Given the description of an element on the screen output the (x, y) to click on. 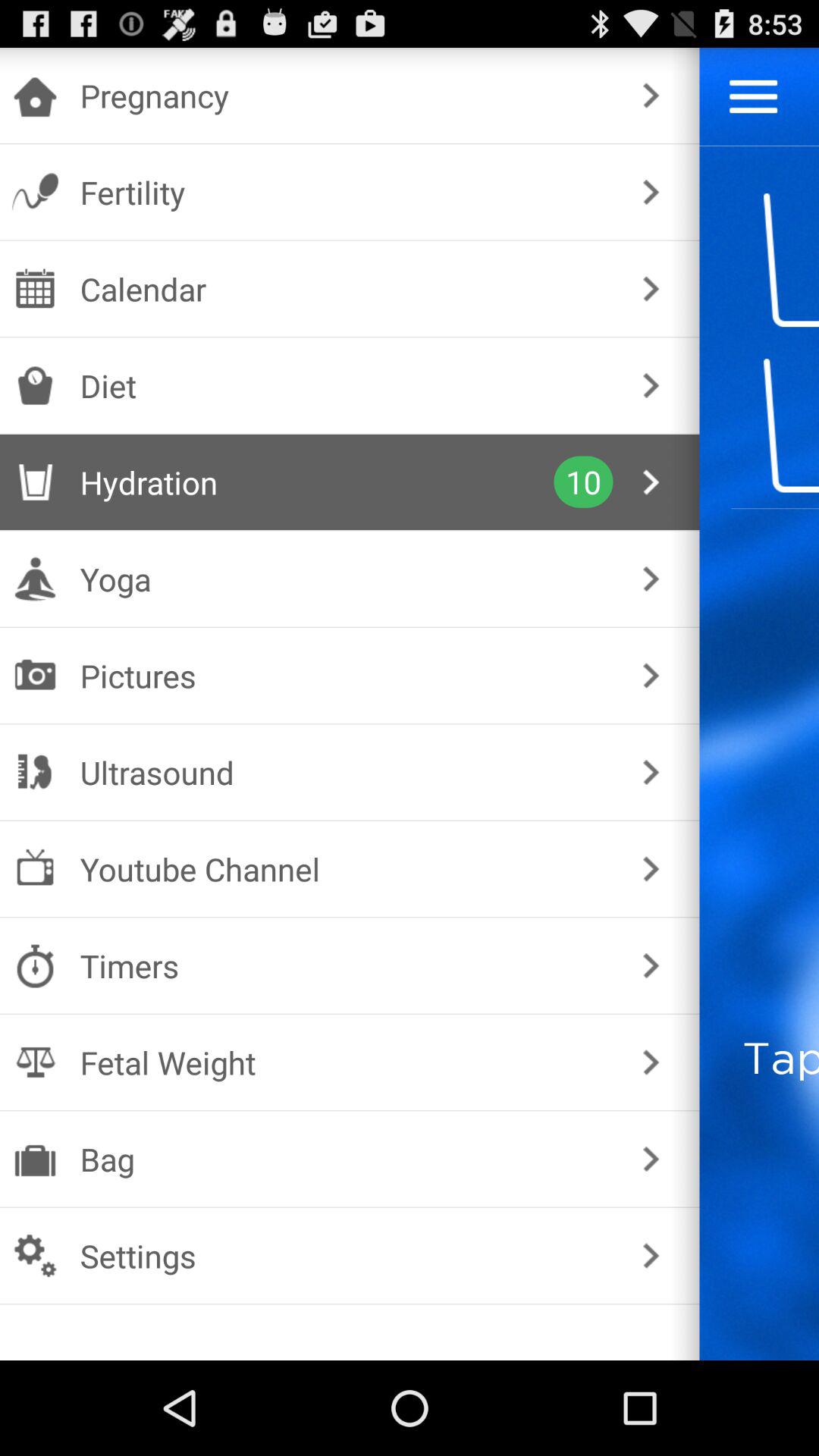
select the checkbox above fetal weight icon (346, 965)
